Given the description of an element on the screen output the (x, y) to click on. 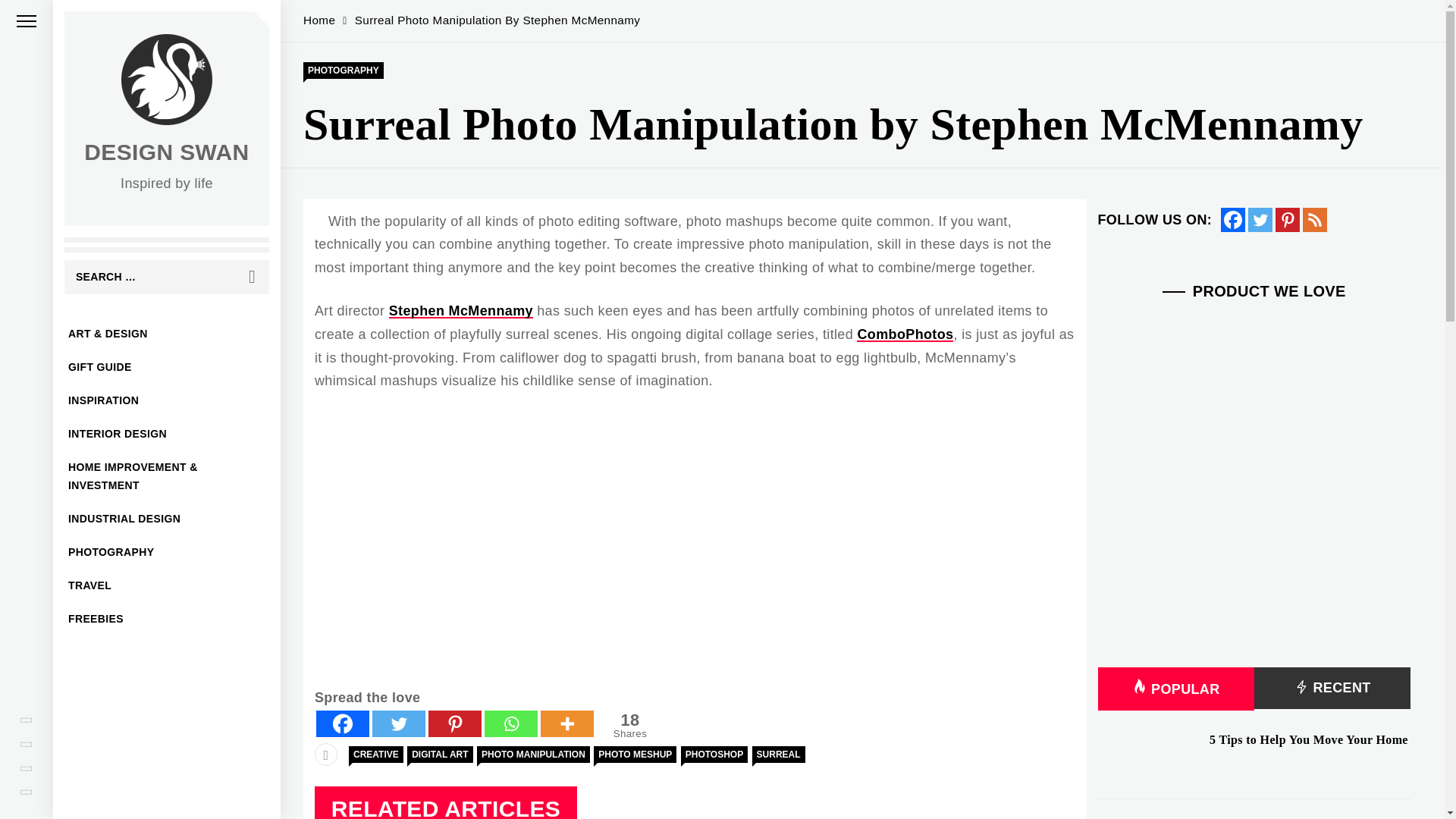
TRAVEL (166, 584)
Search (251, 277)
Twitter (398, 723)
INSPIRATION (166, 400)
Pinterest (454, 723)
Facebook (1232, 219)
DIGITAL ART (439, 754)
Facebook (342, 723)
GIFT GUIDE (166, 367)
Whatsapp (510, 723)
CREATIVE (627, 725)
Total Shares (376, 754)
PHOTOGRAPHY (630, 724)
DESIGN SWAN (166, 551)
